Given the description of an element on the screen output the (x, y) to click on. 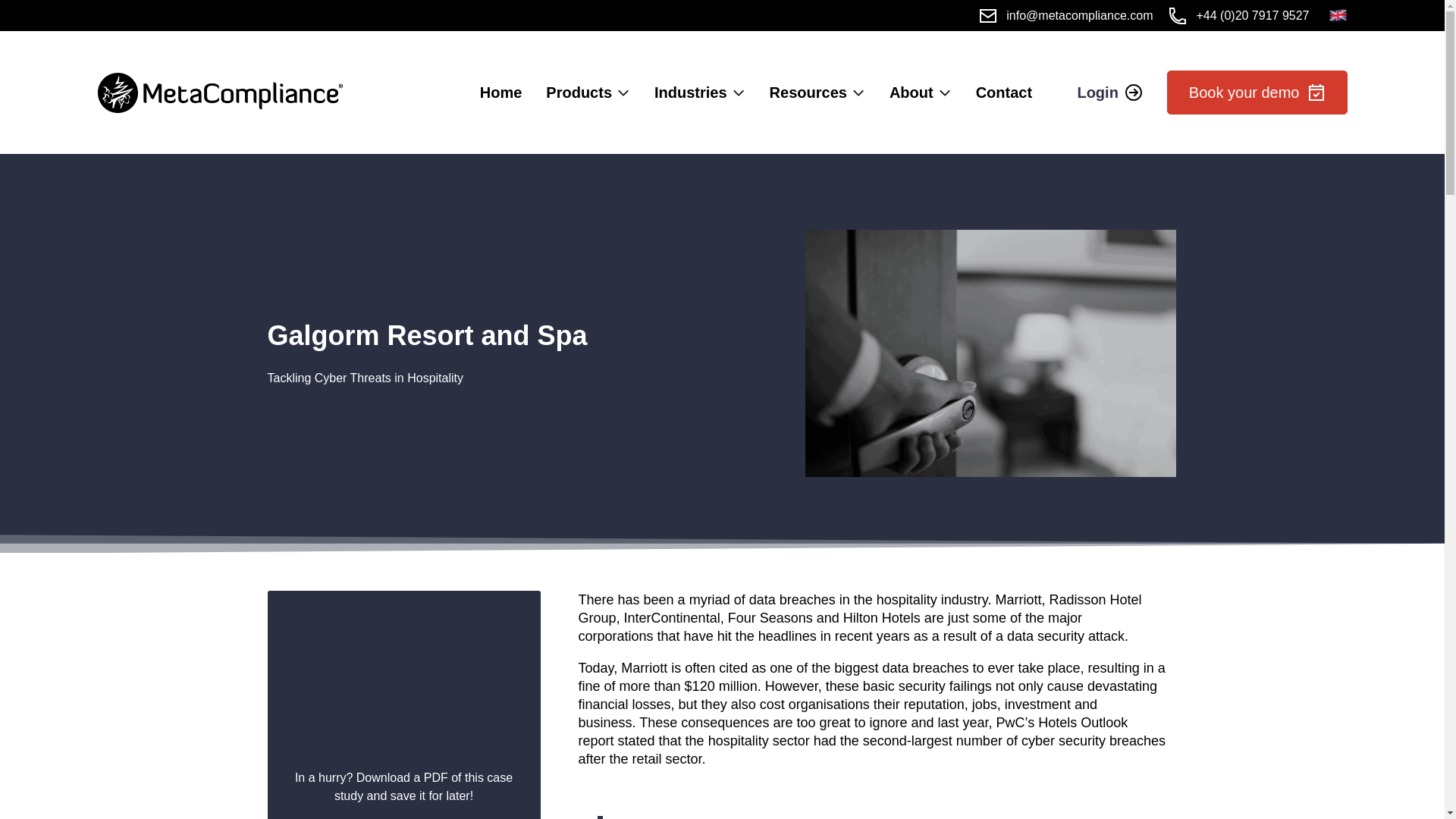
Login (1109, 92)
Book your demo (1257, 92)
Contact (1003, 92)
Resources (808, 92)
Products (578, 92)
About (911, 92)
Home (501, 92)
Industries (689, 92)
